Given the description of an element on the screen output the (x, y) to click on. 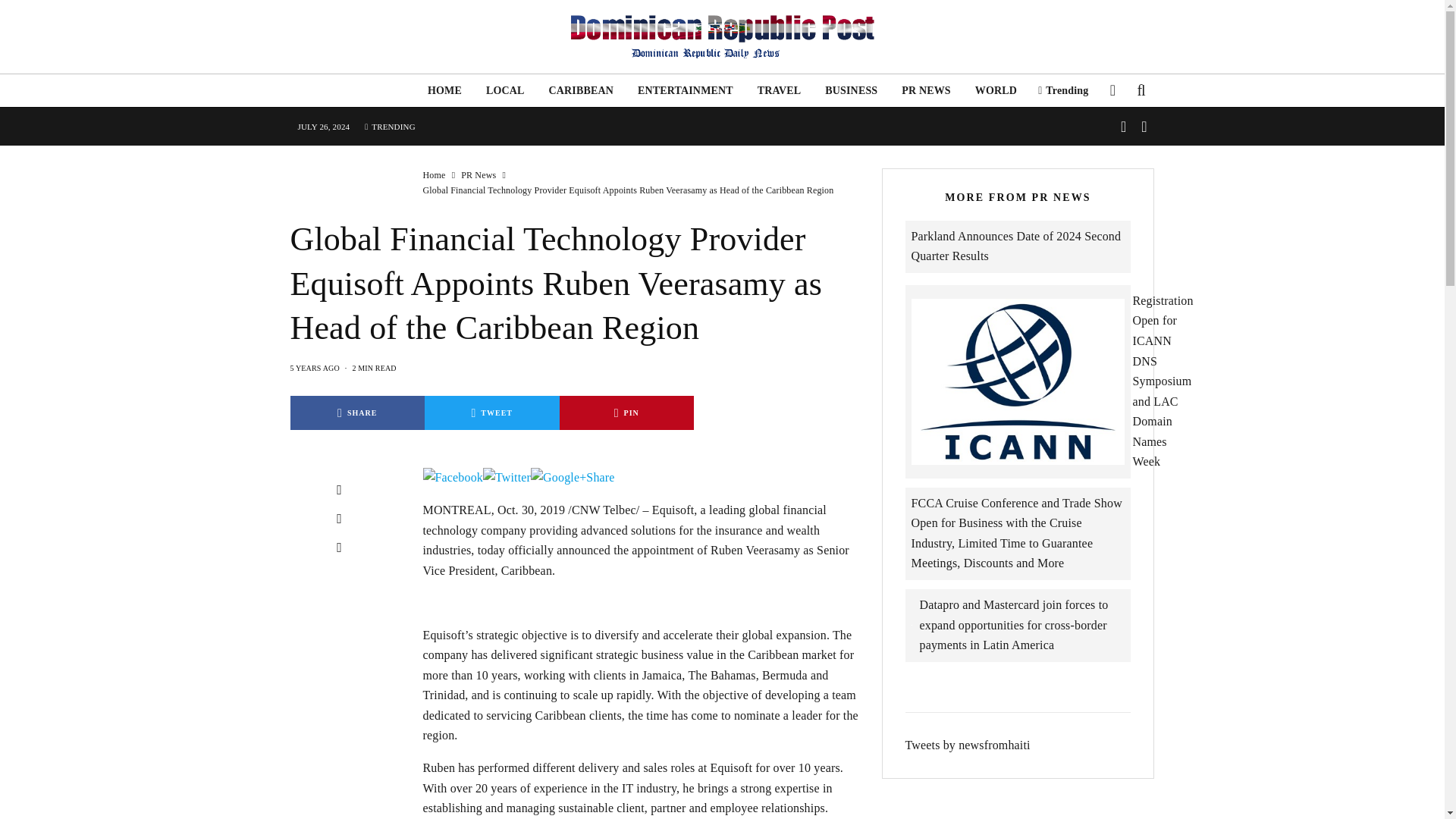
Facebook (453, 477)
Twitter (507, 477)
CARIBBEAN (581, 90)
LOCAL (505, 90)
TRAVEL (779, 90)
ENTERTAINMENT (685, 90)
HOME (444, 90)
